Given the description of an element on the screen output the (x, y) to click on. 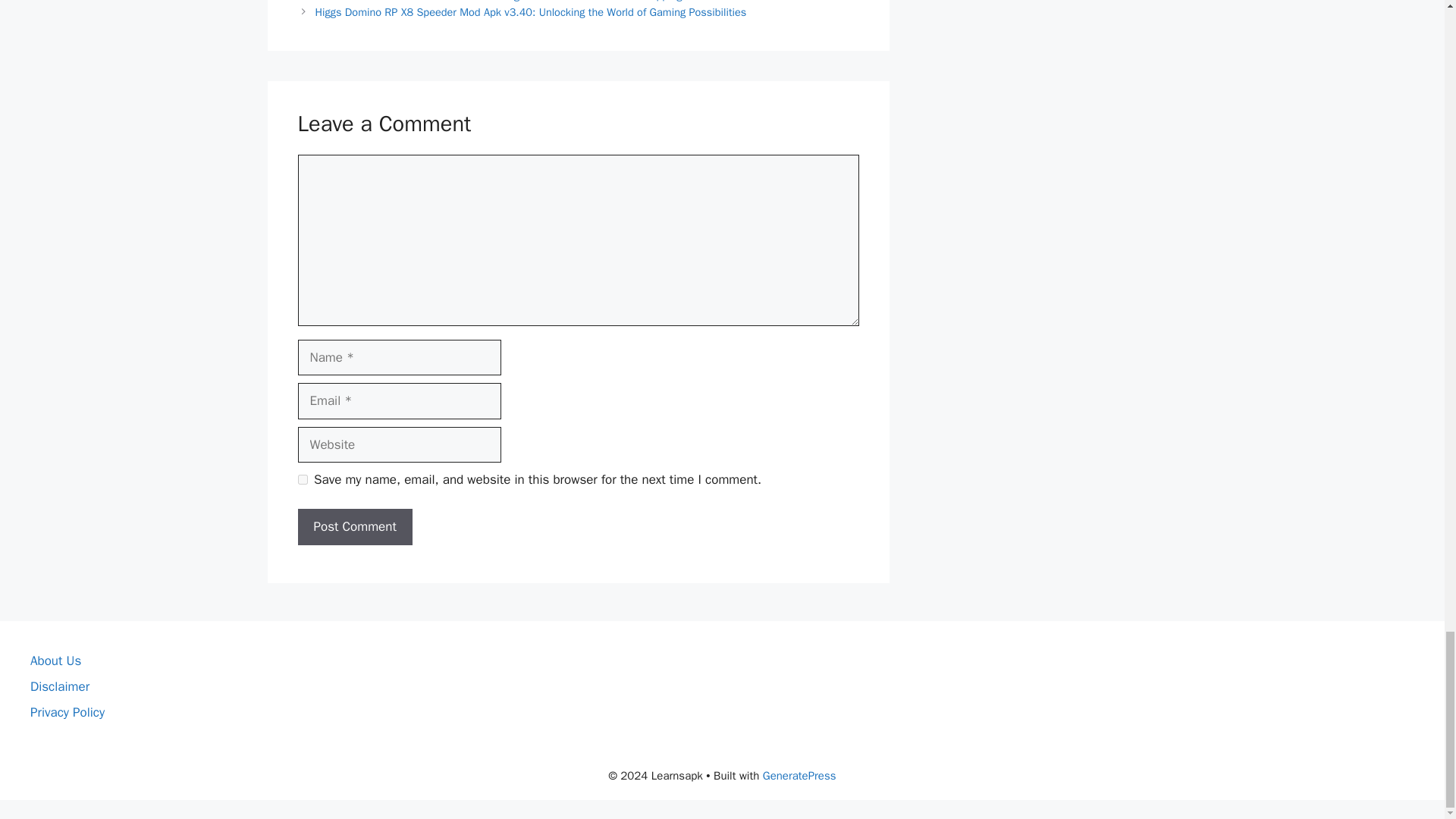
Post Comment (354, 526)
yes (302, 479)
Post Comment (354, 526)
